Given the description of an element on the screen output the (x, y) to click on. 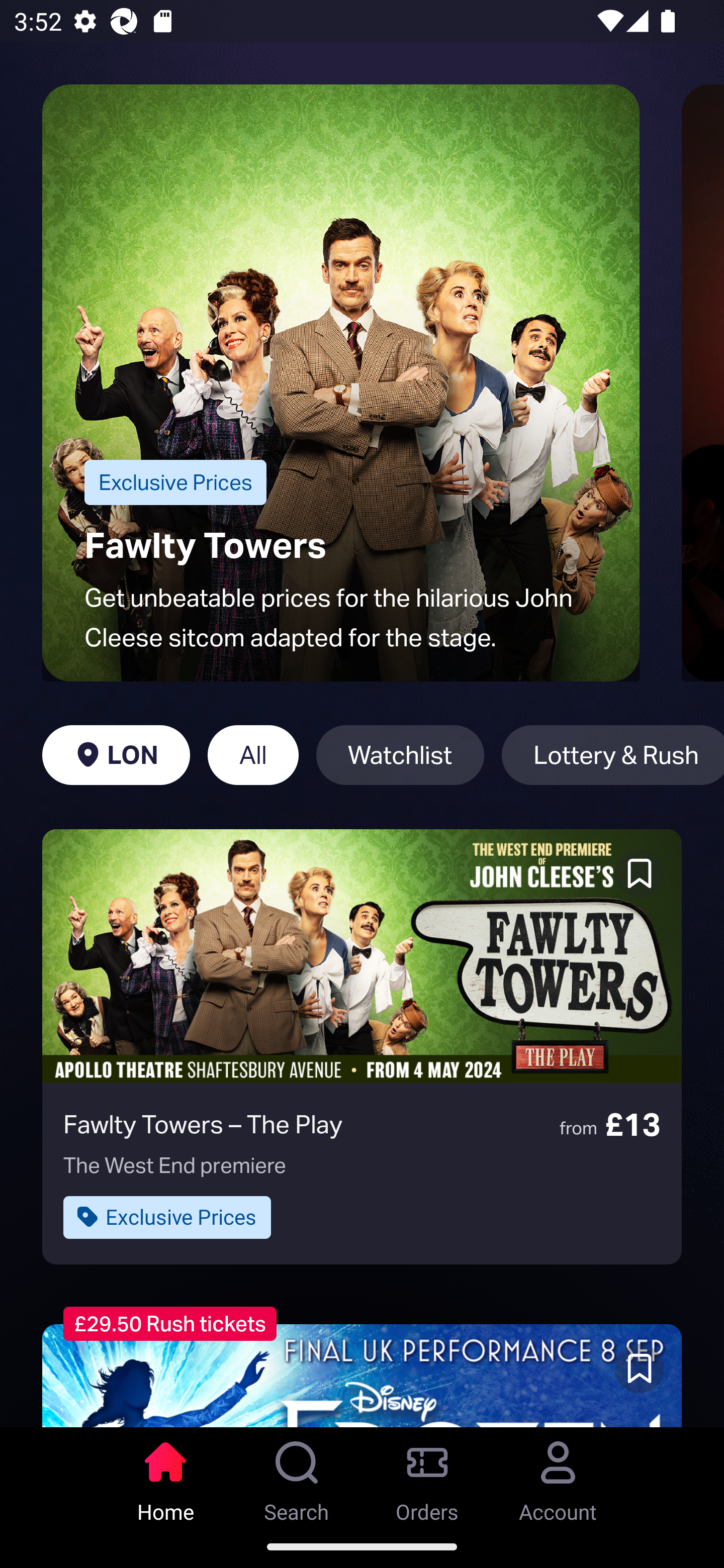
LON (115, 754)
All (252, 754)
Watchlist (400, 754)
Lottery & Rush (612, 754)
Search (296, 1475)
Orders (427, 1475)
Account (558, 1475)
